Given the description of an element on the screen output the (x, y) to click on. 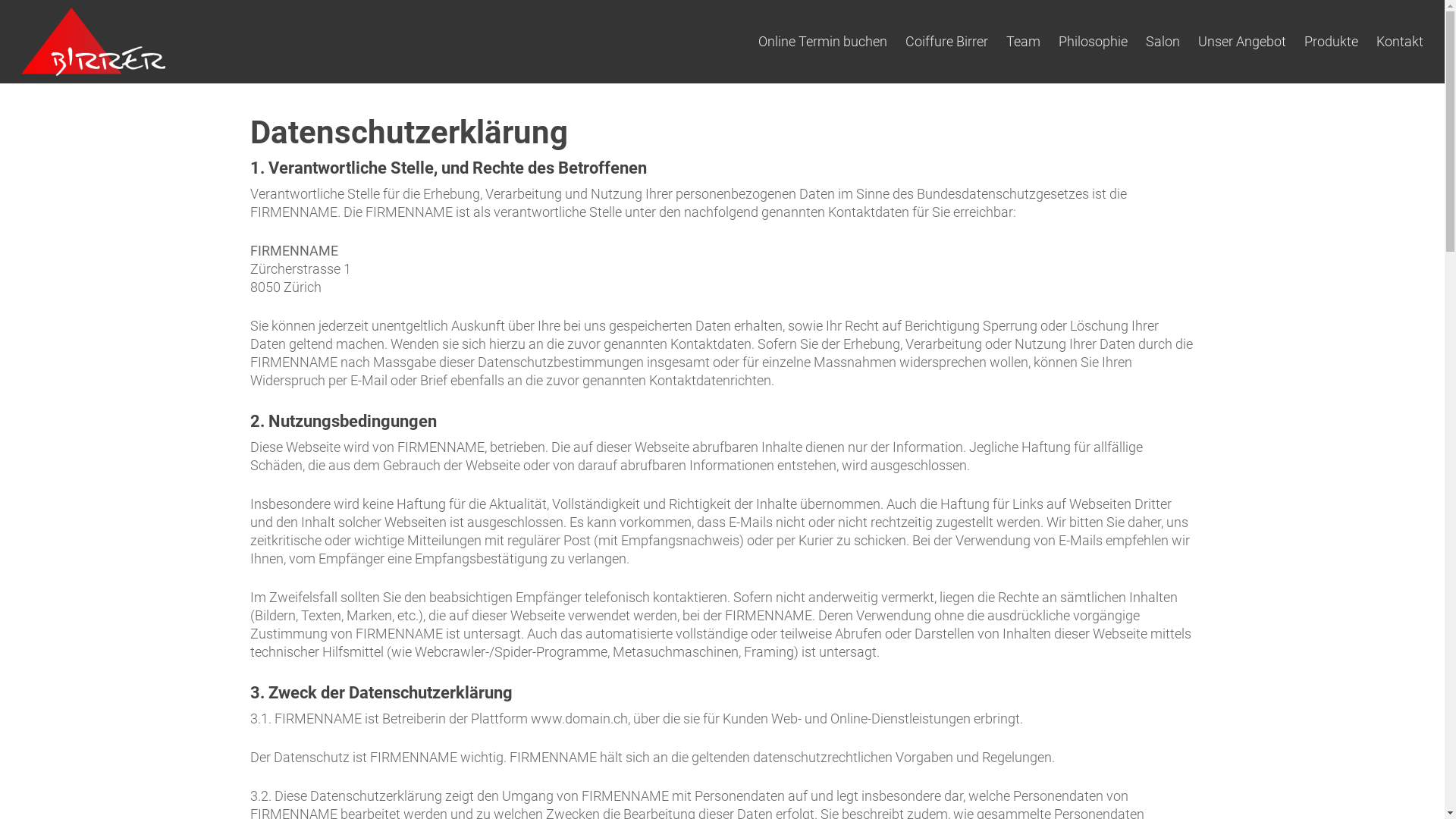
Philosophie Element type: text (1092, 41)
Unser Angebot Element type: text (1242, 41)
Coiffure Birrer Element type: text (946, 41)
Produkte Element type: text (1331, 41)
Kontakt Element type: text (1399, 41)
Team Element type: text (1023, 41)
Online Termin buchen Element type: text (822, 41)
Salon Element type: text (1162, 41)
